Given the description of an element on the screen output the (x, y) to click on. 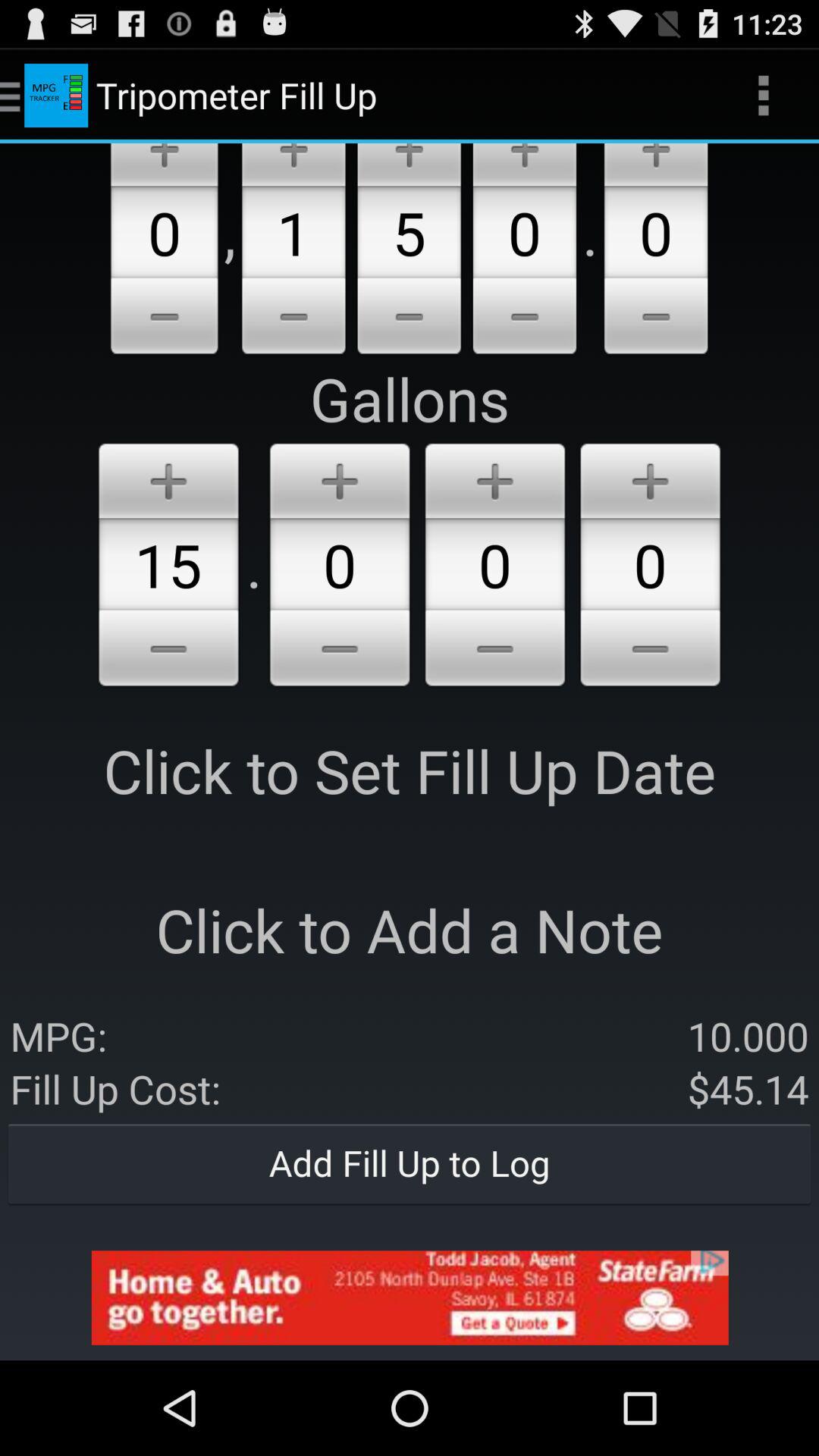
click to add option (168, 478)
